Given the description of an element on the screen output the (x, y) to click on. 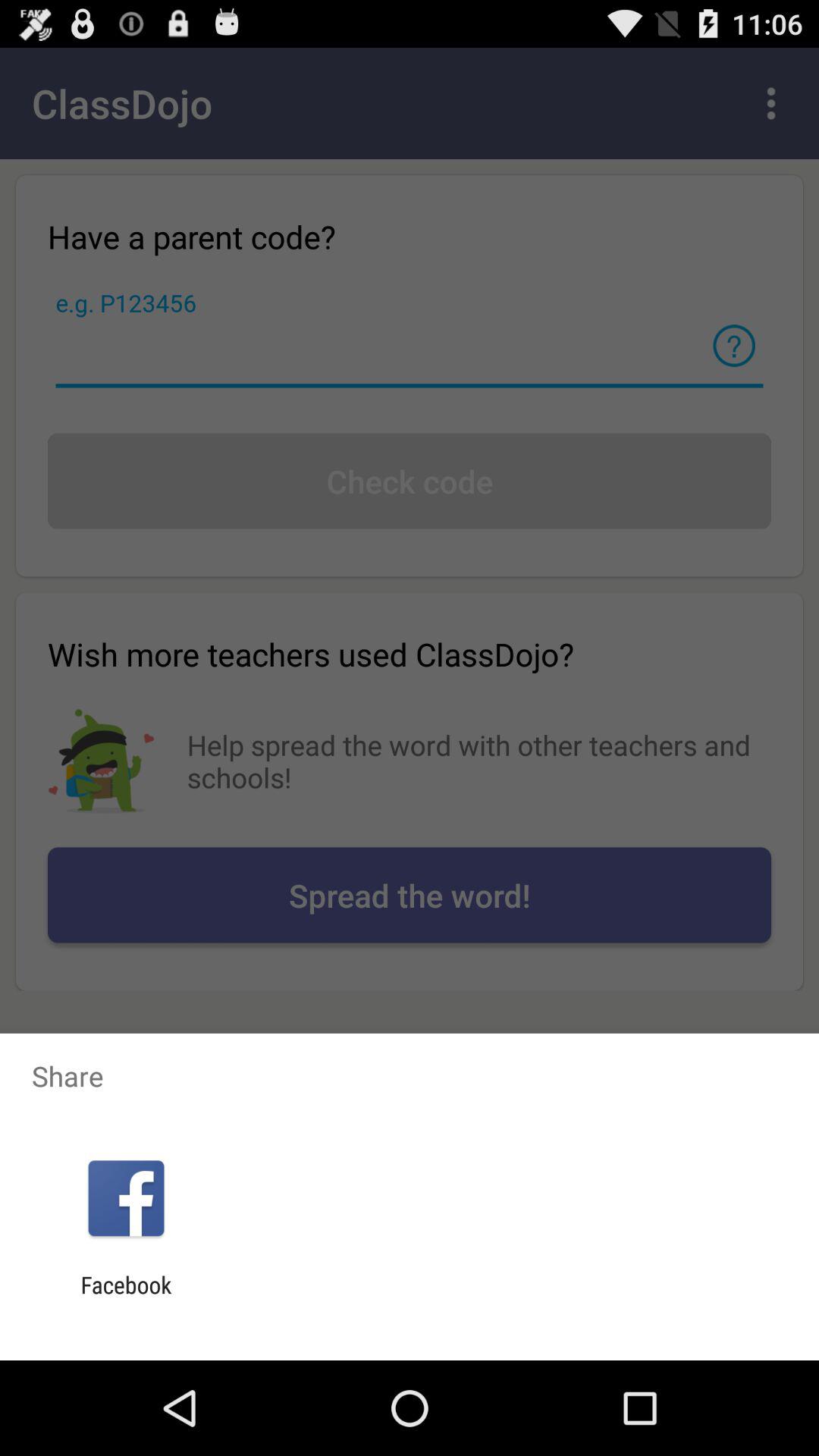
launch the app below share item (126, 1198)
